Given the description of an element on the screen output the (x, y) to click on. 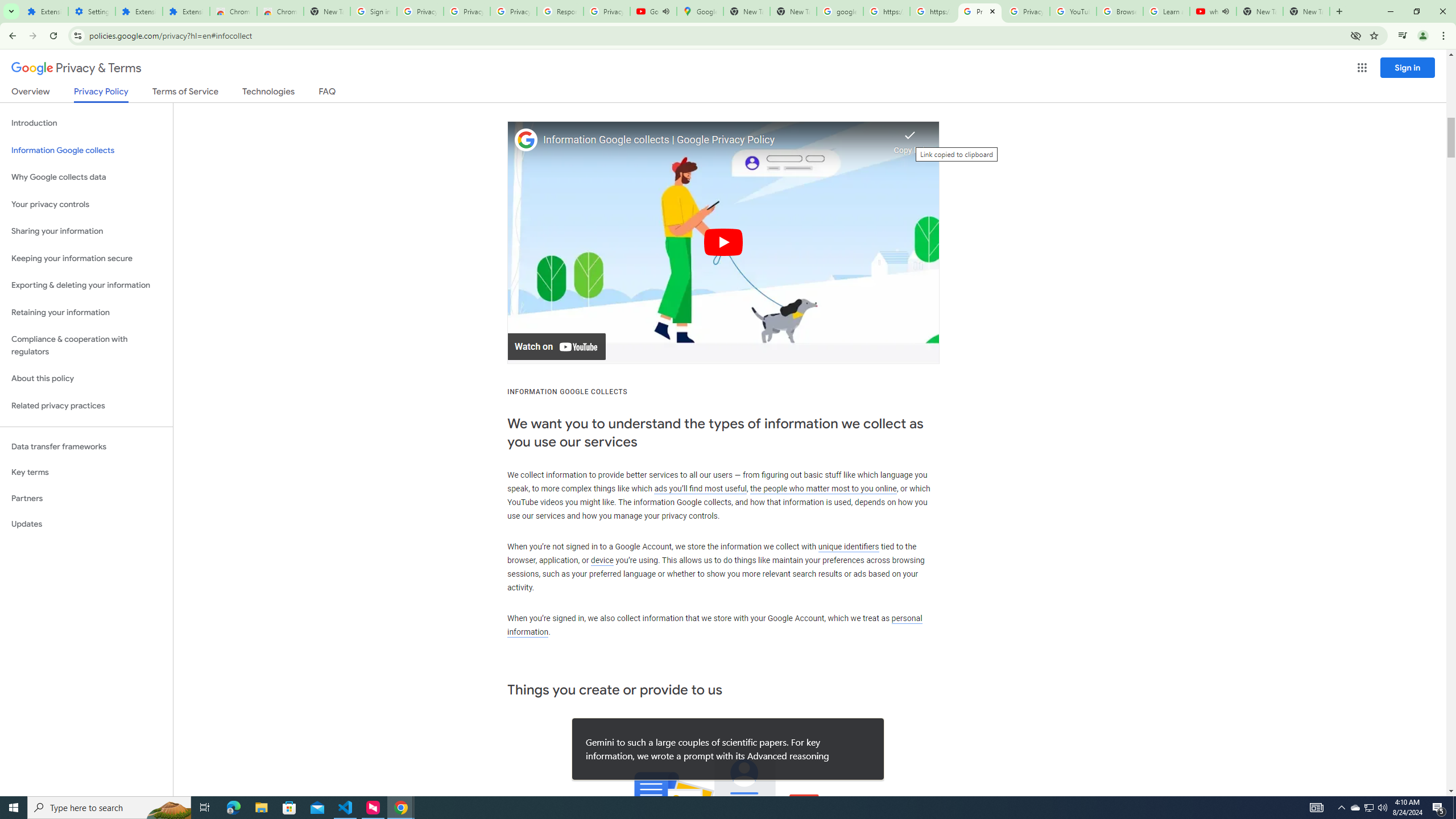
Mute tab (1225, 10)
Control your music, videos, and more (1402, 35)
Settings (91, 11)
YouTube (1073, 11)
Terms of Service (184, 93)
